Given the description of an element on the screen output the (x, y) to click on. 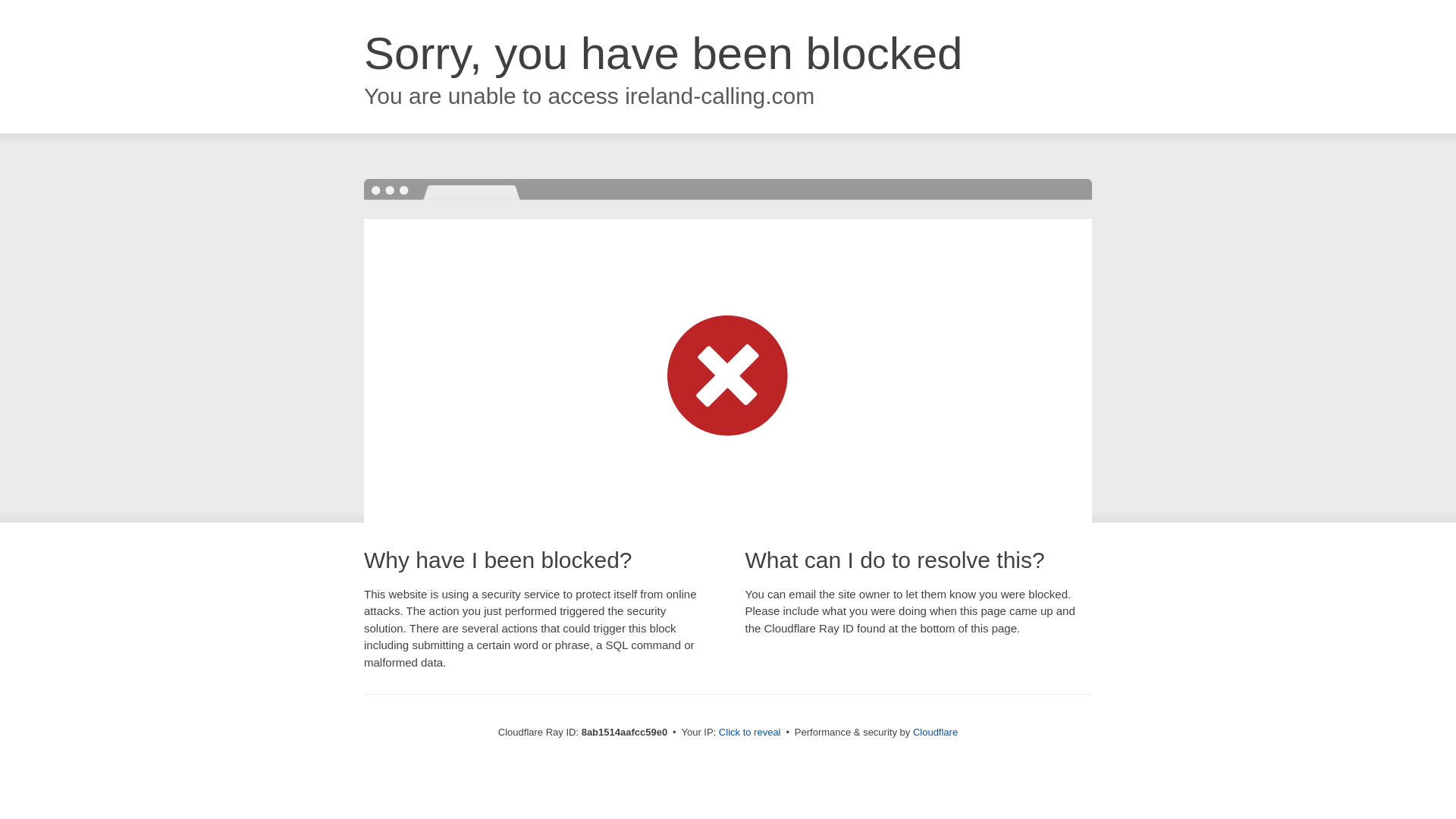
Click to reveal (749, 732)
Cloudflare (935, 731)
